Given the description of an element on the screen output the (x, y) to click on. 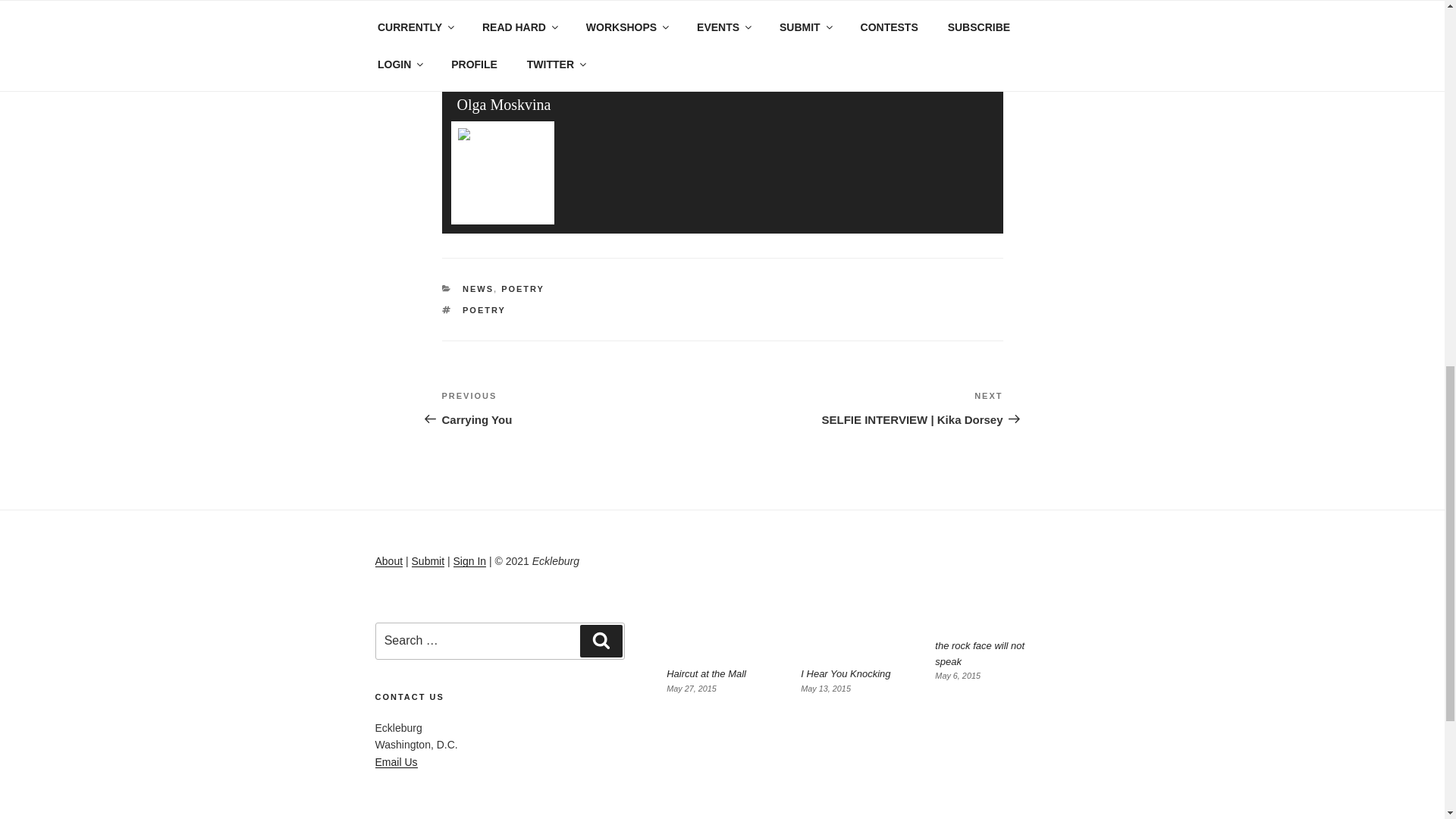
Olga Moskvina (503, 104)
